Given the description of an element on the screen output the (x, y) to click on. 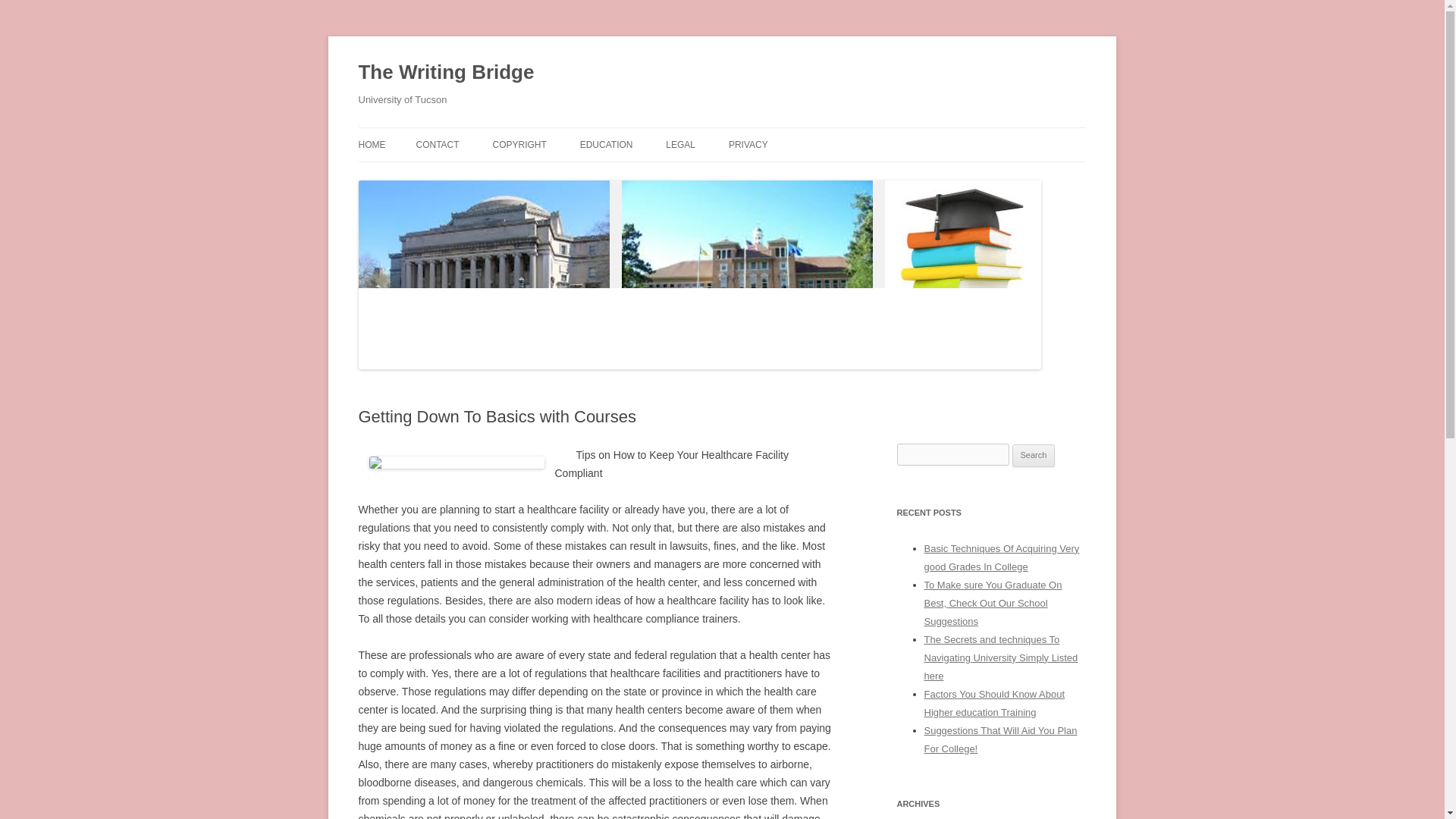
CONTACT (436, 144)
Search (1033, 455)
Basic Techniques Of Acquiring Very good Grades In College (1000, 557)
Search (1033, 455)
Factors You Should Know About Higher education Training (993, 703)
PRIVACY (748, 144)
COPYRIGHT (519, 144)
EDUCATION (606, 144)
Suggestions That Will Aid You Plan For College! (1000, 739)
The Writing Bridge (446, 72)
The Writing Bridge (446, 72)
